Given the description of an element on the screen output the (x, y) to click on. 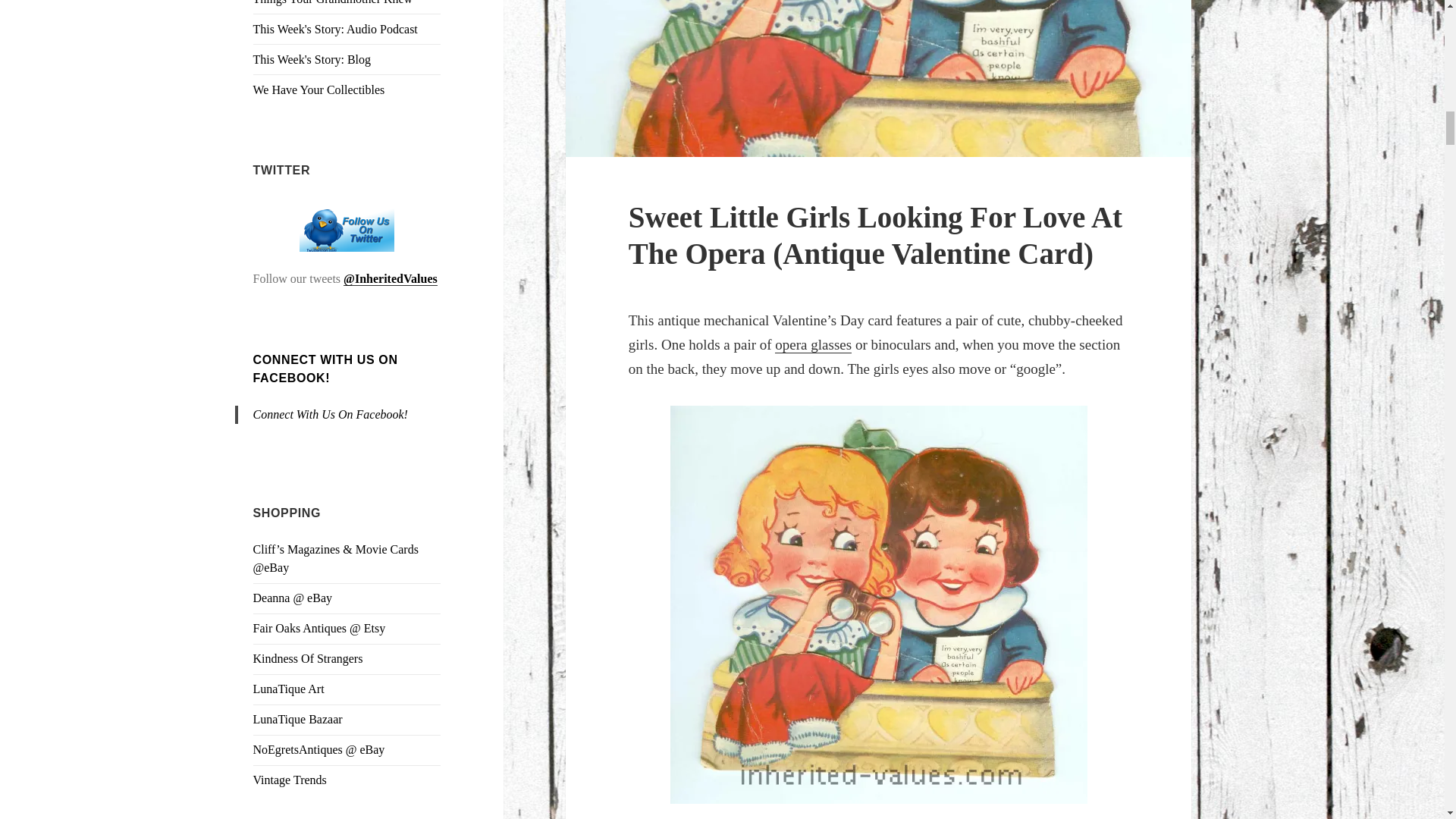
inherited-values-follow-us-at-twitter (346, 227)
